Given the description of an element on the screen output the (x, y) to click on. 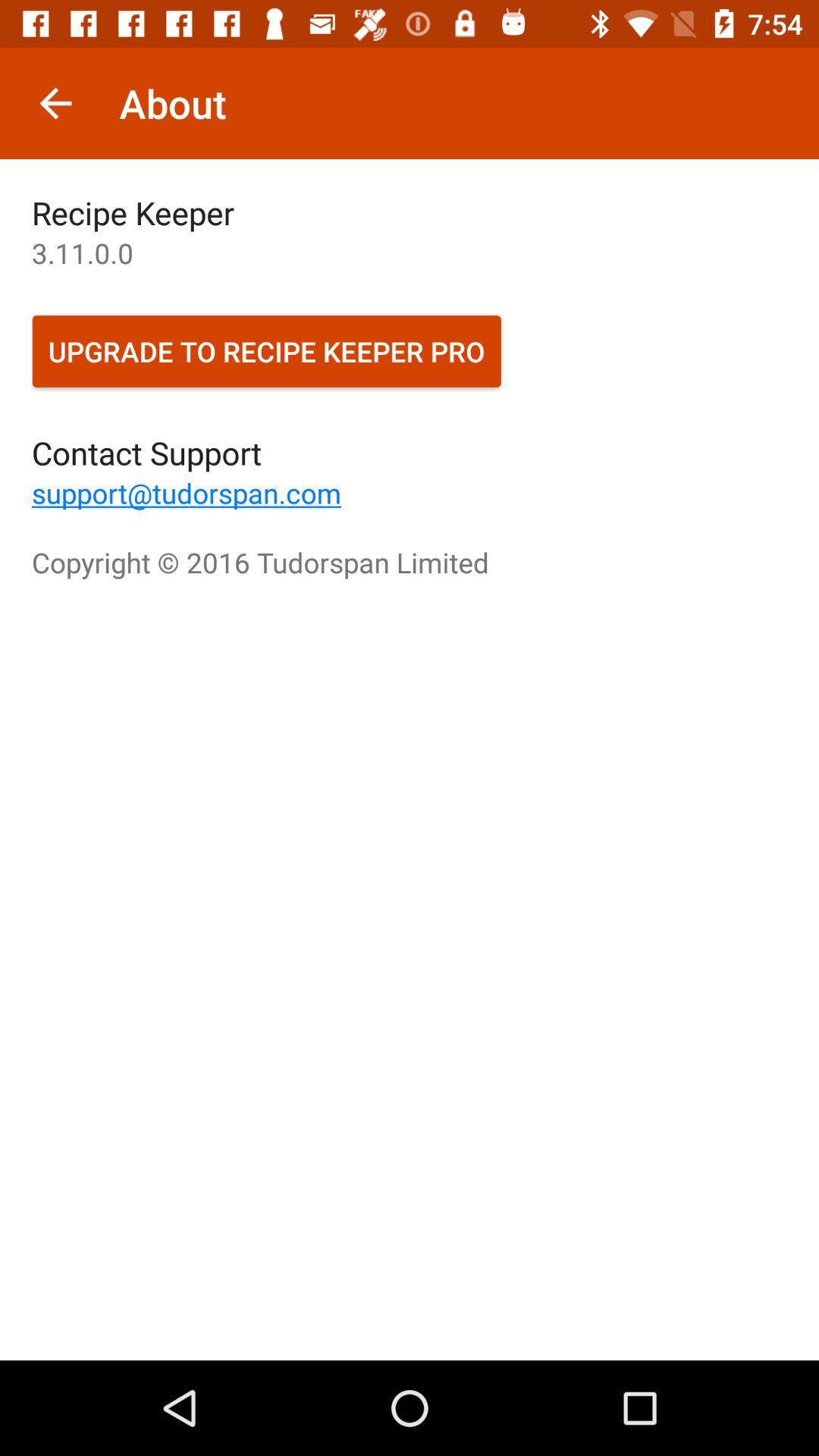
press the icon next to about item (55, 103)
